Given the description of an element on the screen output the (x, y) to click on. 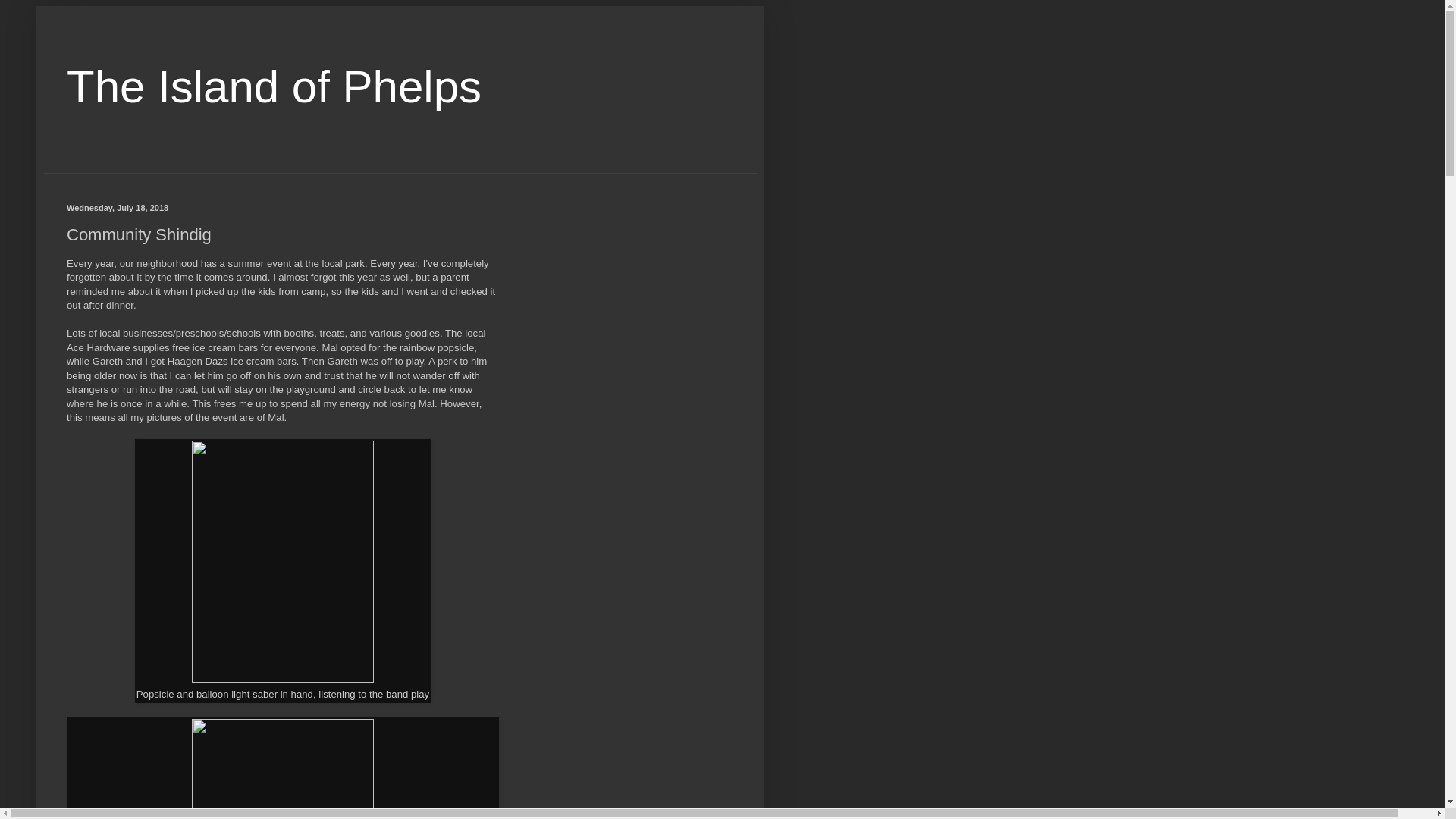
The Island of Phelps (273, 86)
